Given the description of an element on the screen output the (x, y) to click on. 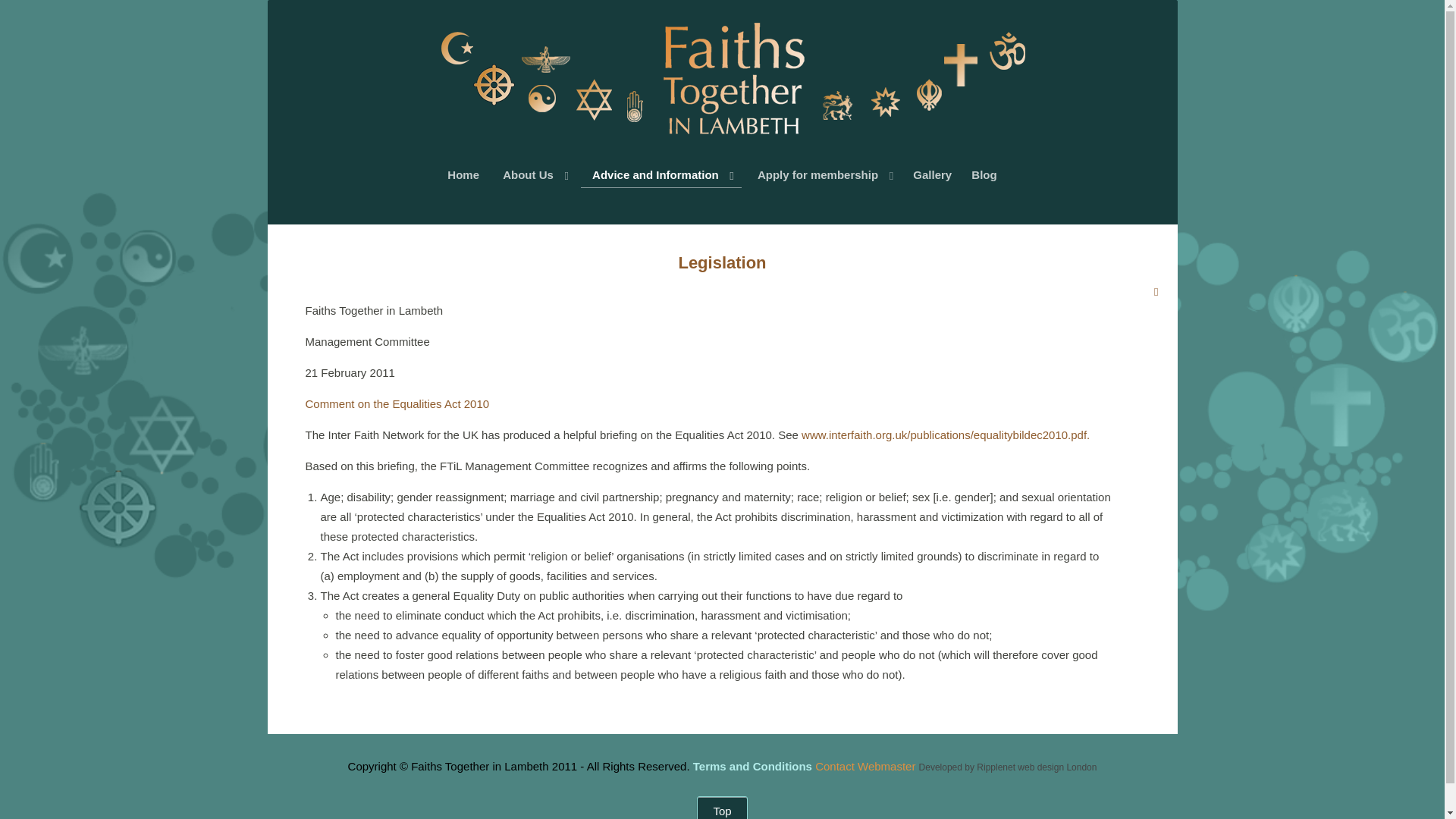
Contact Webmaster (865, 766)
Advice and Information (660, 174)
Apply for membership (823, 174)
email webmaster (865, 766)
Comment on the Equalities Act 2010 (396, 403)
Legislation (721, 262)
Ripplenet web design London (1036, 767)
About Us (534, 174)
Terms and Conditions (752, 766)
